Given the description of an element on the screen output the (x, y) to click on. 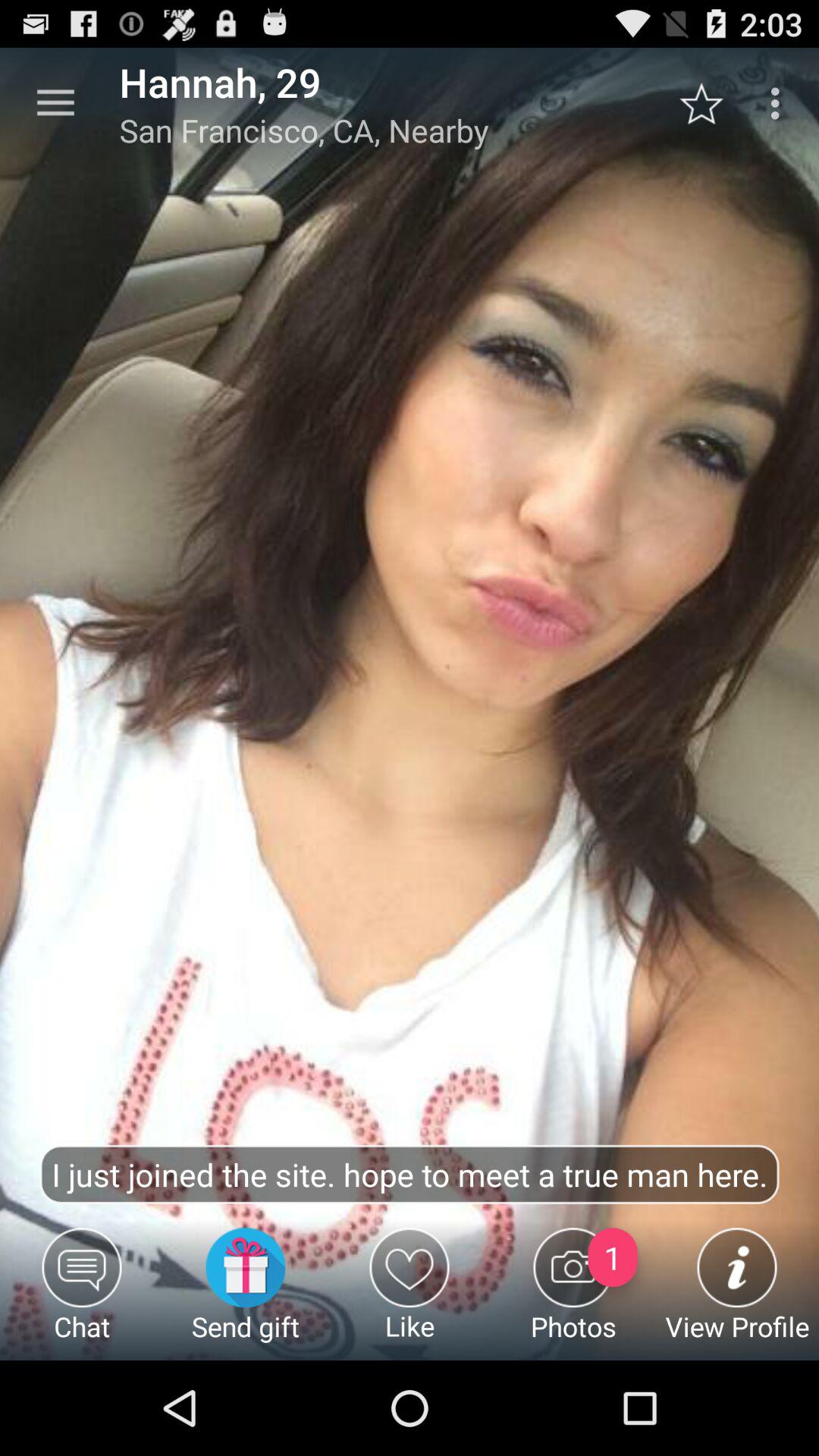
tap the photos (573, 1293)
